Given the description of an element on the screen output the (x, y) to click on. 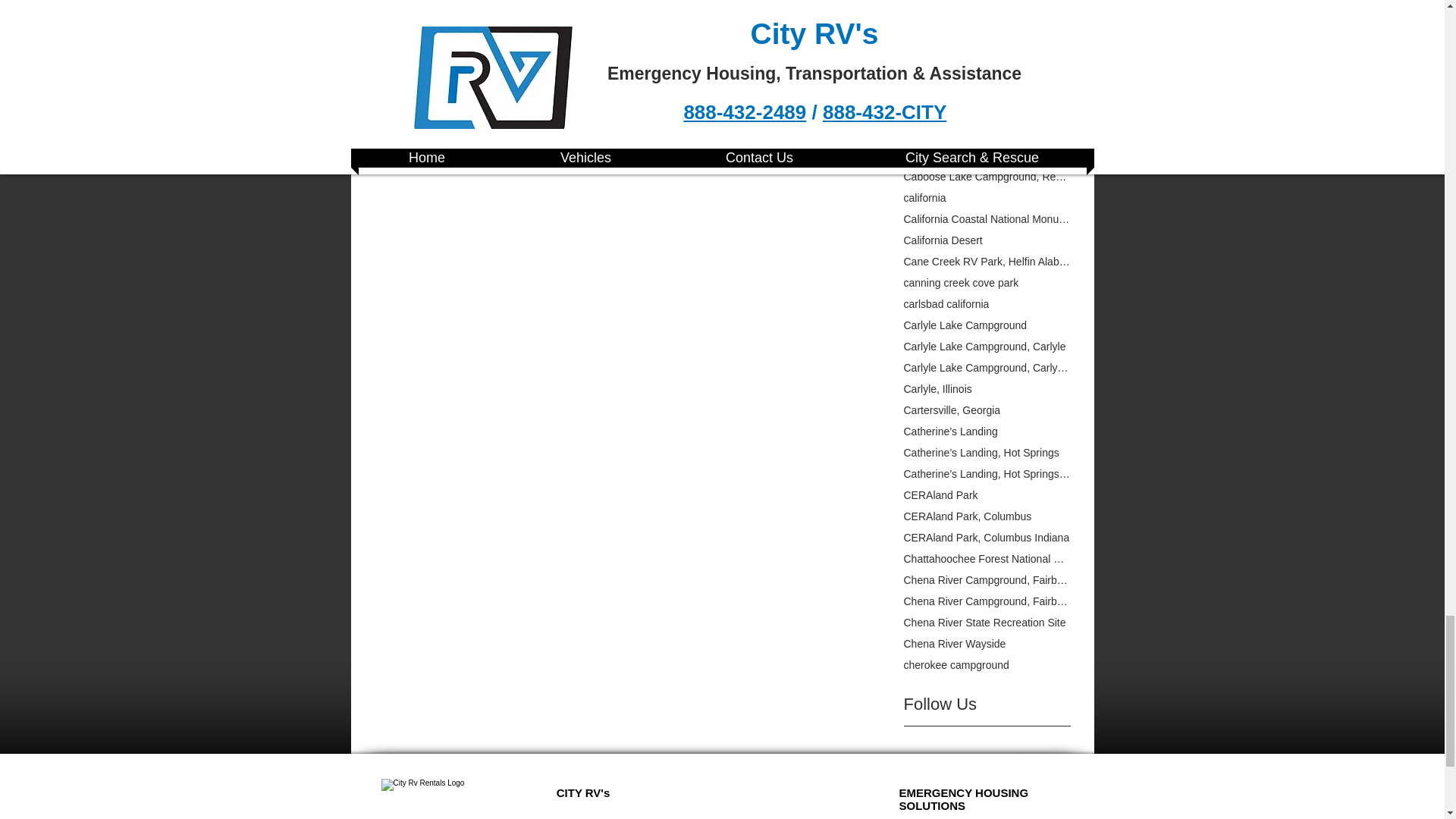
CITY RV RENTALS.png (422, 798)
